Given the description of an element on the screen output the (x, y) to click on. 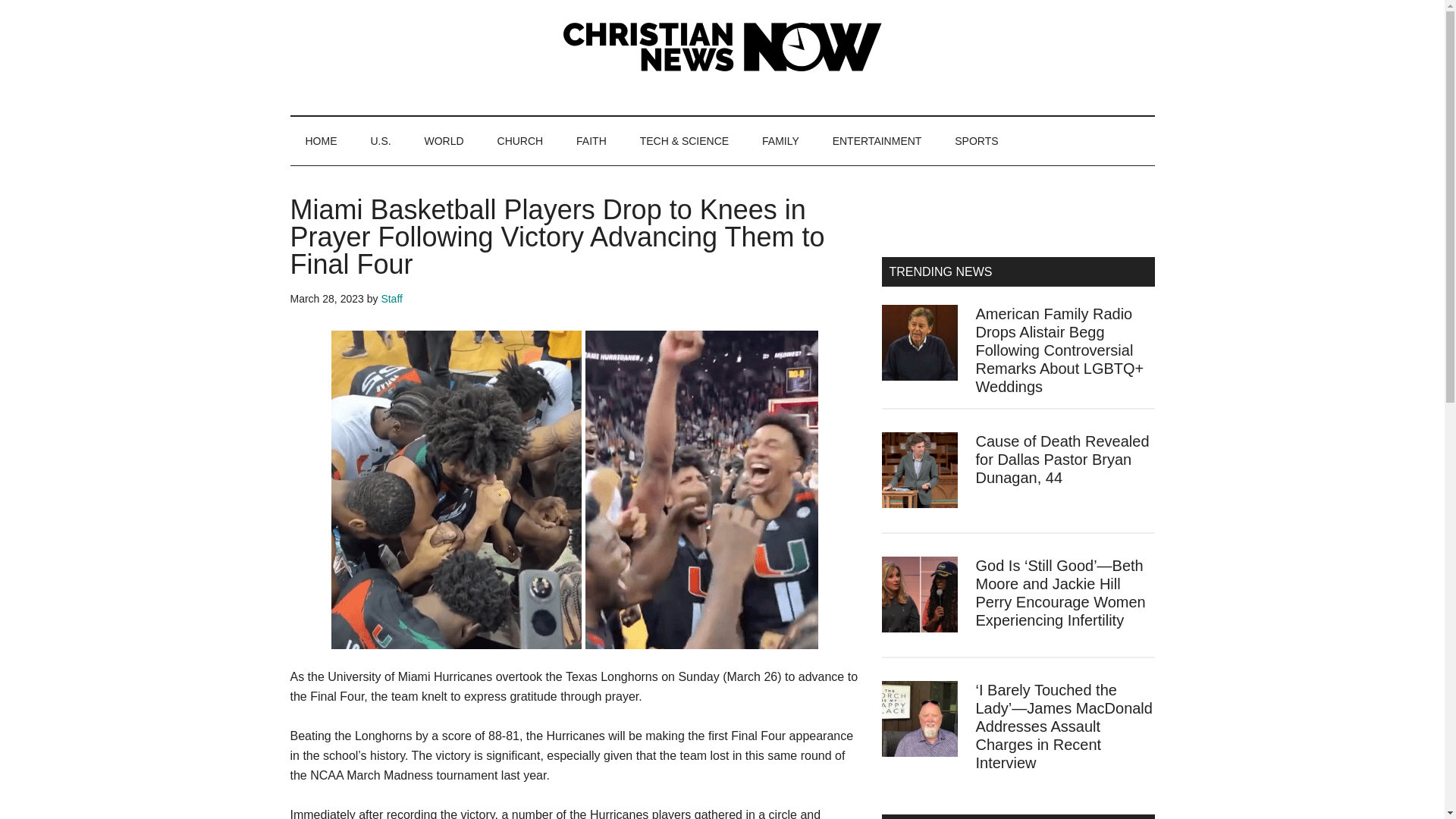
FAITH (590, 141)
ENTERTAINMENT (876, 141)
CHURCH (520, 141)
FAMILY (779, 141)
HOME (320, 141)
Staff (391, 298)
SPORTS (976, 141)
WORLD (444, 141)
U.S. (380, 141)
